Given the description of an element on the screen output the (x, y) to click on. 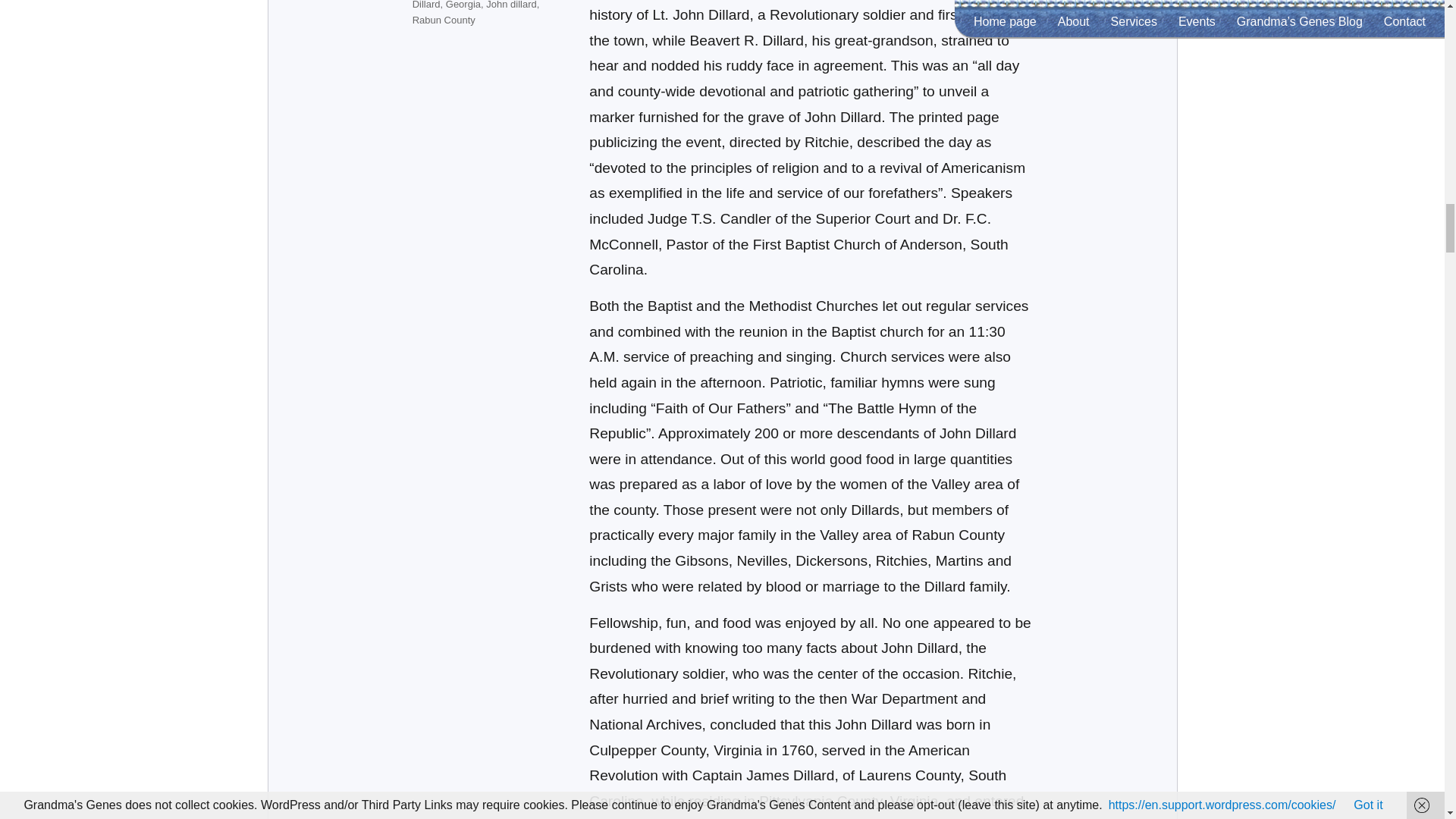
Rabun County (444, 19)
John dillard (511, 4)
Georgia (462, 4)
Dillard (426, 4)
